Given the description of an element on the screen output the (x, y) to click on. 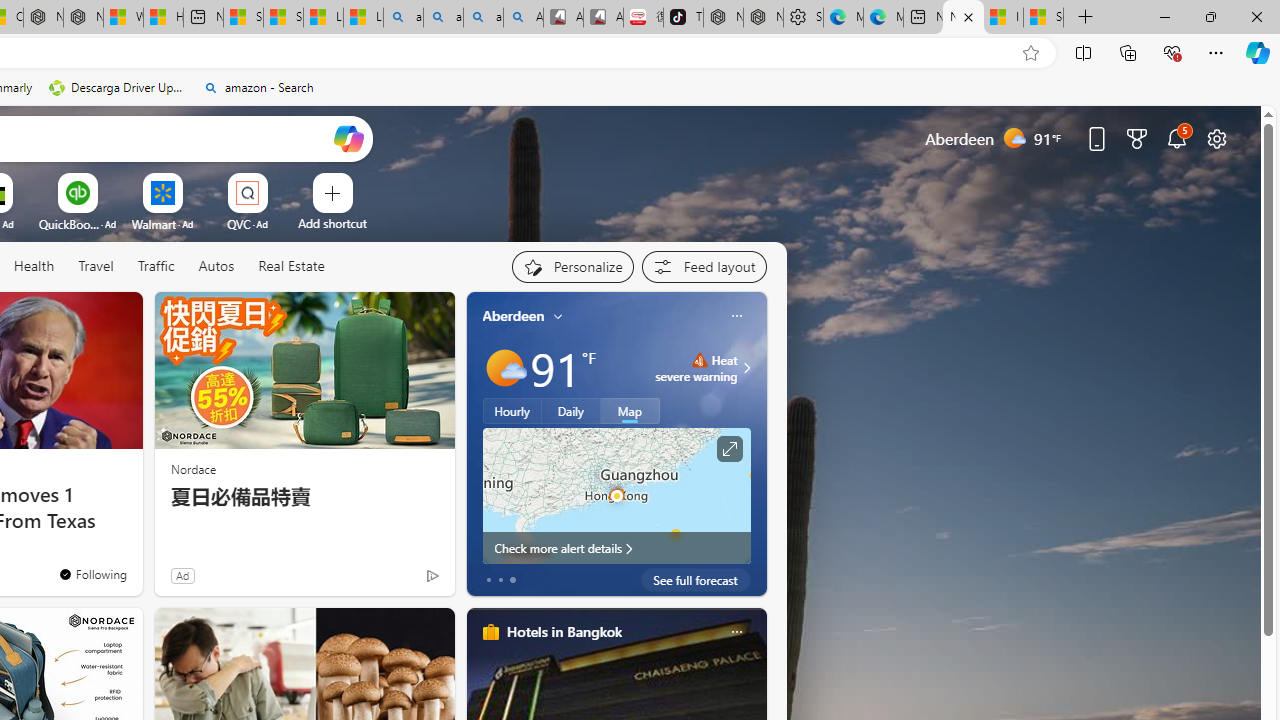
Autos (215, 265)
Check more alert details (616, 547)
Mostly sunny (504, 368)
Add a site (332, 223)
